Given the description of an element on the screen output the (x, y) to click on. 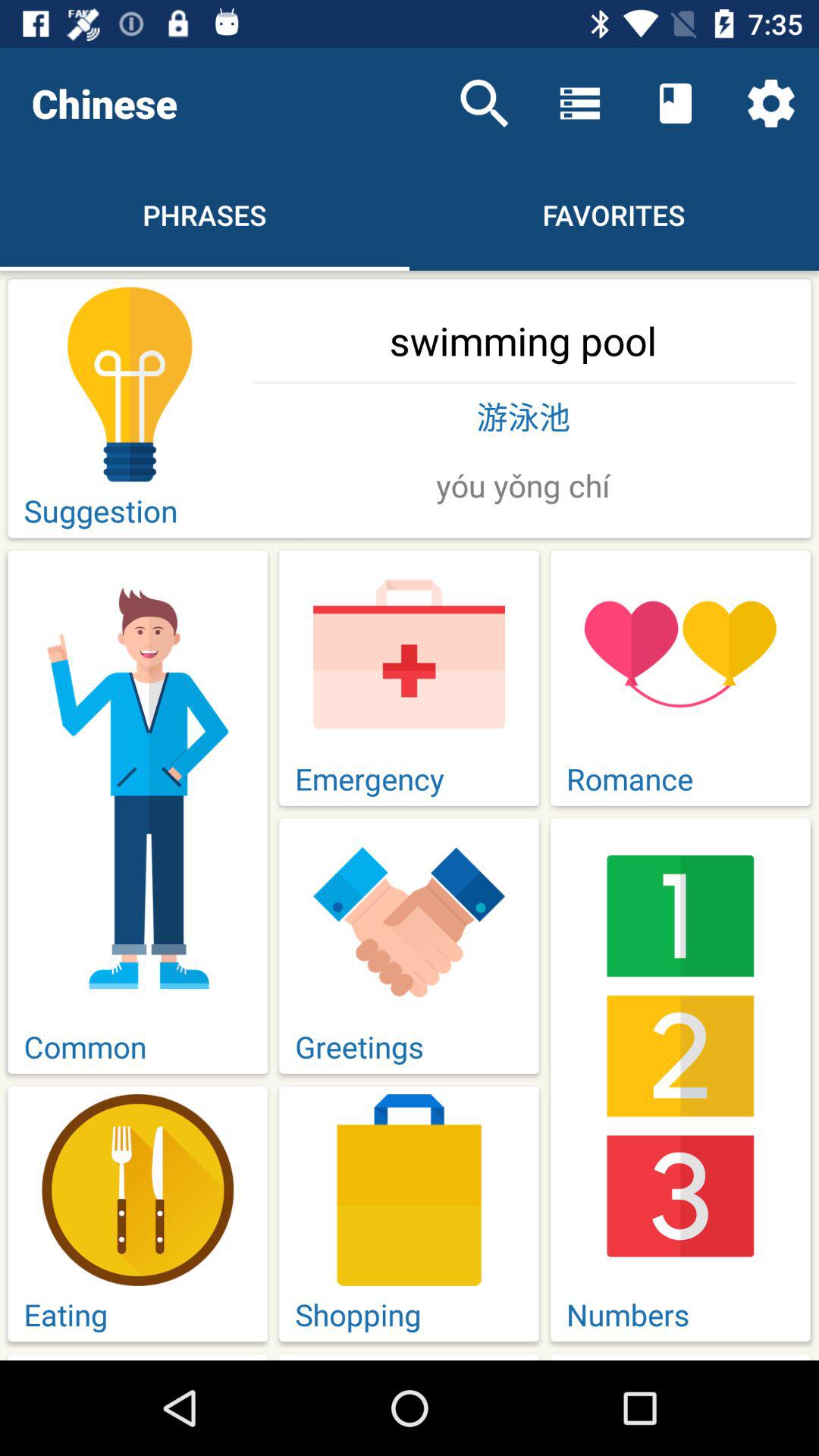
click the icon above the favorites item (675, 103)
